Given the description of an element on the screen output the (x, y) to click on. 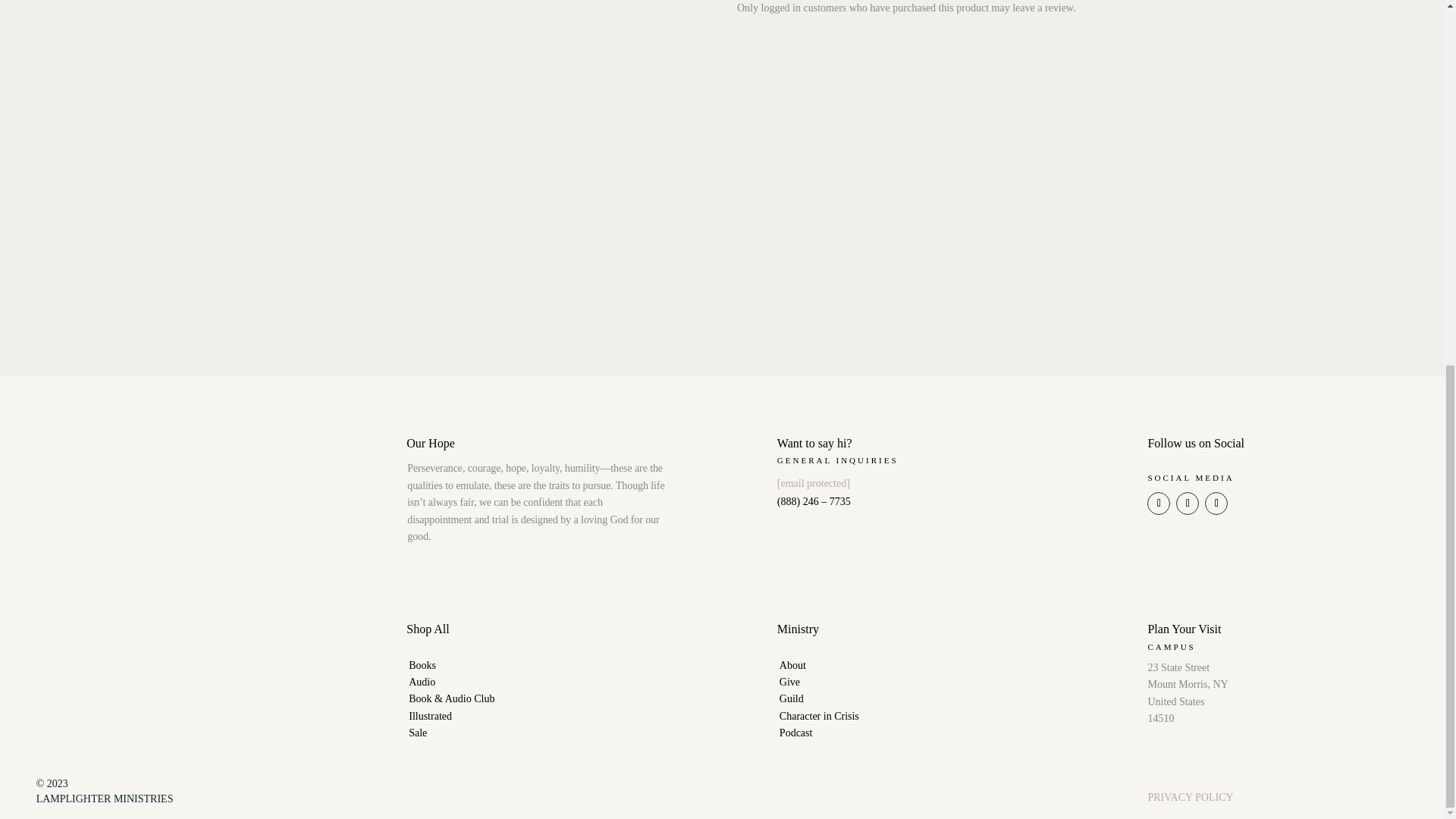
Follow on X (1187, 503)
Follow on Facebook (1158, 503)
Illustrated (430, 715)
Follow on Instagram (1216, 503)
Sale (417, 732)
Audio (422, 681)
Books (422, 665)
About (792, 665)
Lamplighter Logo 2022 (54, 483)
